Given the description of an element on the screen output the (x, y) to click on. 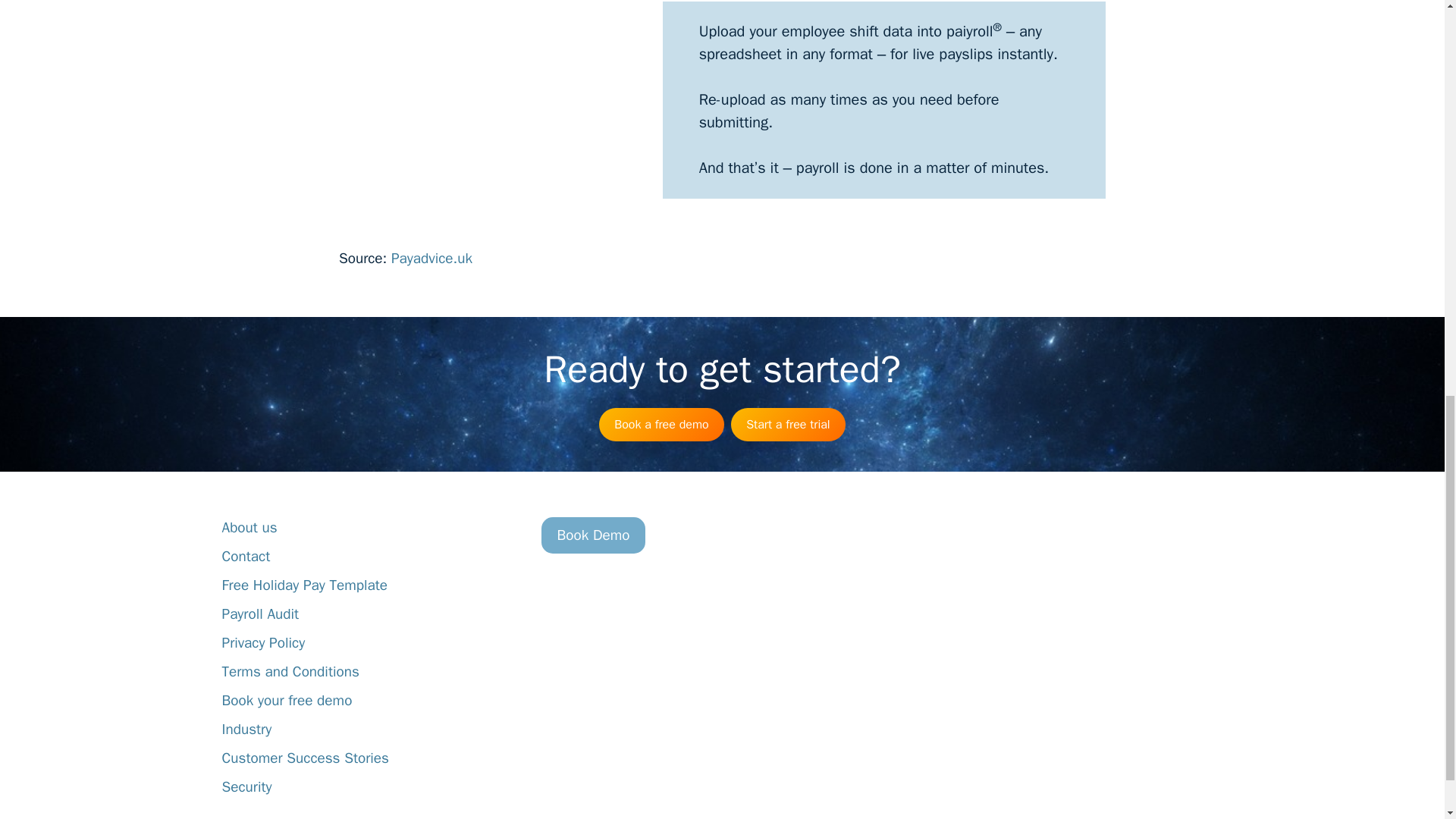
SpreadsheetUpload (486, 111)
